Given the description of an element on the screen output the (x, y) to click on. 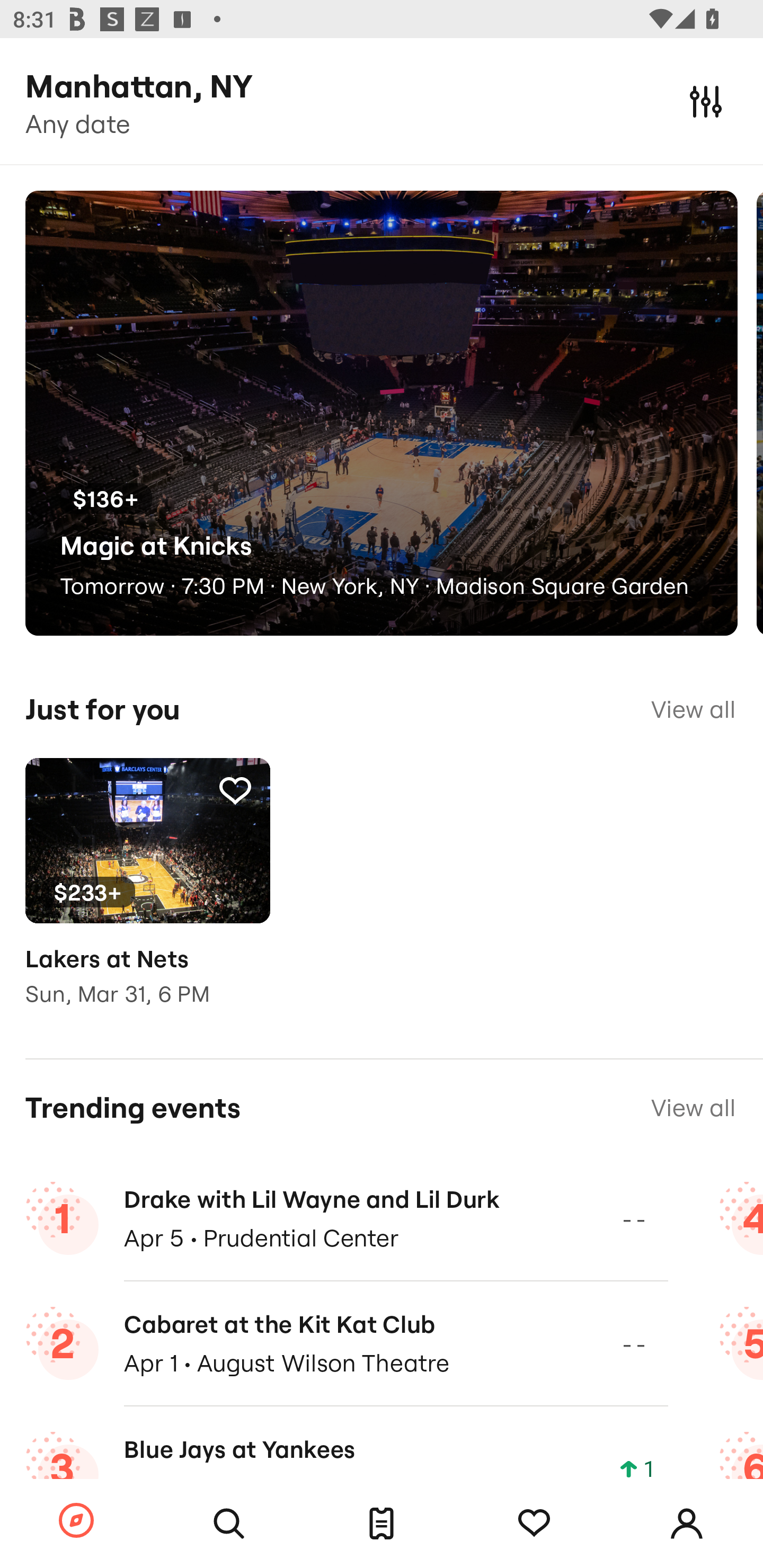
Filters (705, 100)
View all (693, 709)
Tracking $233+ Lakers at Nets Sun, Mar 31, 6 PM (147, 895)
Tracking (234, 790)
View all (693, 1108)
Browse (76, 1521)
Search (228, 1523)
Tickets (381, 1523)
Tracking (533, 1523)
Account (686, 1523)
